Given the description of an element on the screen output the (x, y) to click on. 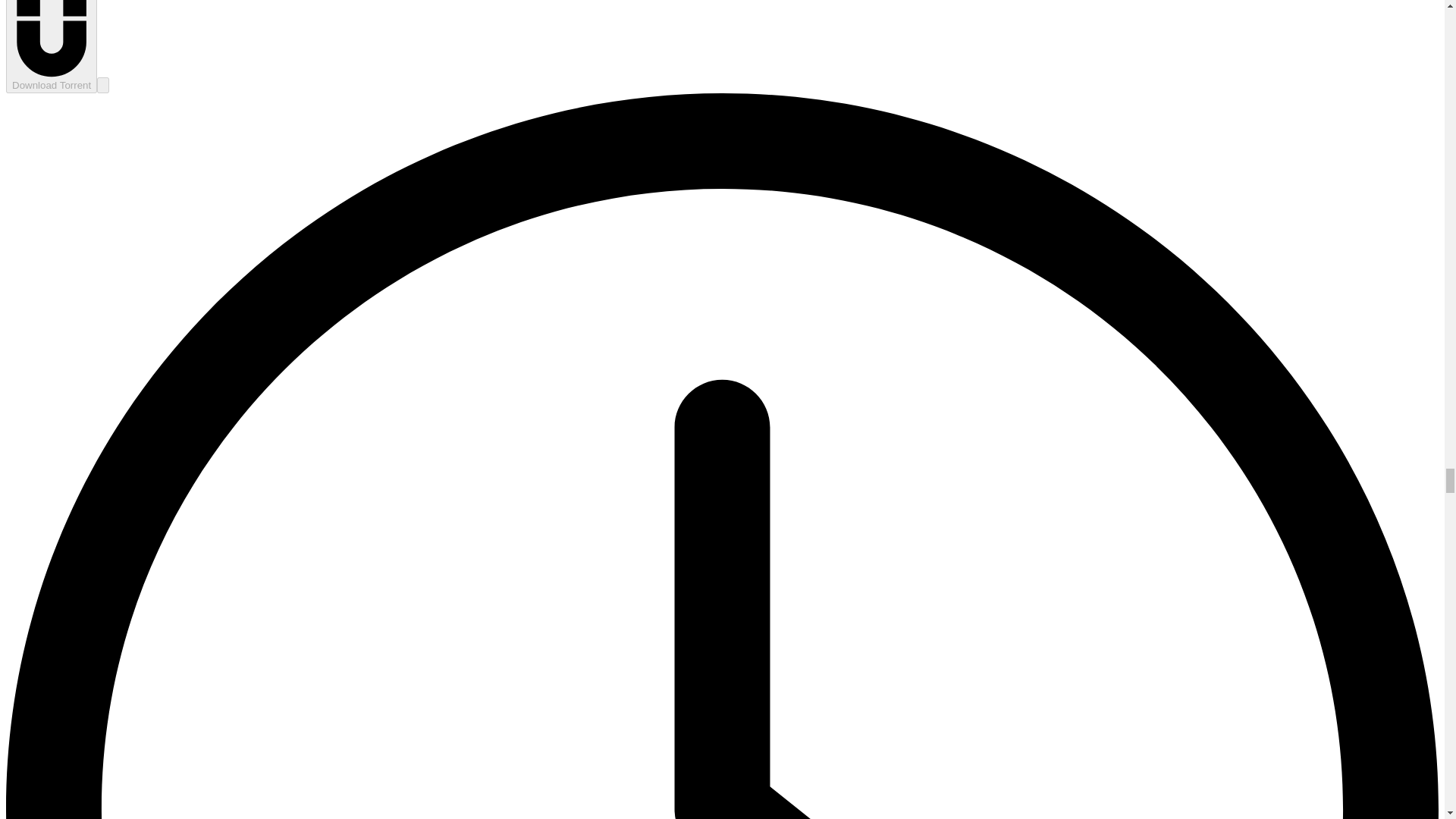
Download Torrent (51, 46)
